Given the description of an element on the screen output the (x, y) to click on. 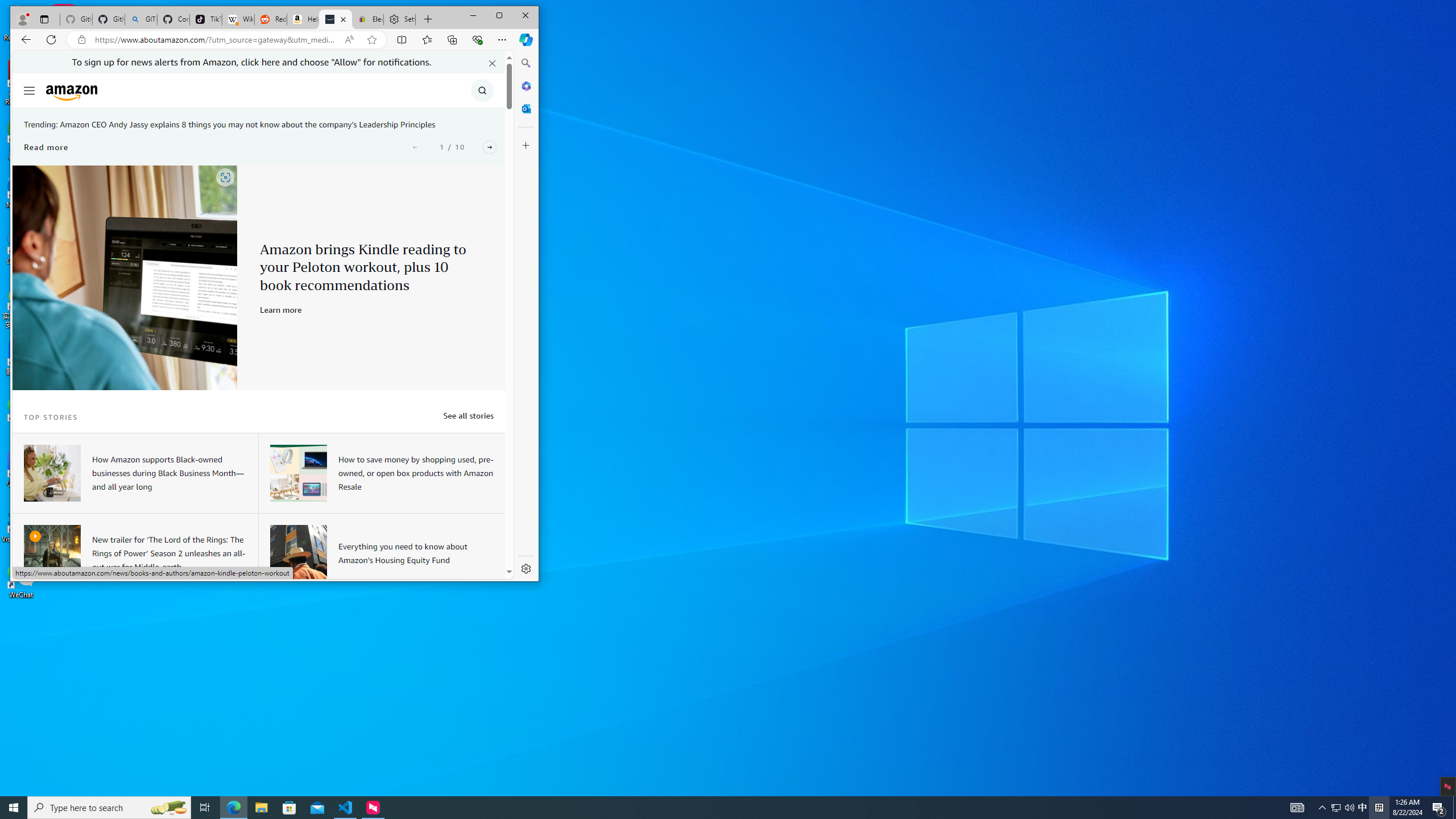
Show desktop (1335, 807)
About Amazon (1454, 807)
Start (335, 19)
A woman sitting at a desk working on a laptop device. (13, 807)
GITHUB - Search (51, 472)
User Promoted Notification Area (140, 19)
Task View (1342, 807)
A woman sitting at a desk working on a laptop device. (204, 807)
